Given the description of an element on the screen output the (x, y) to click on. 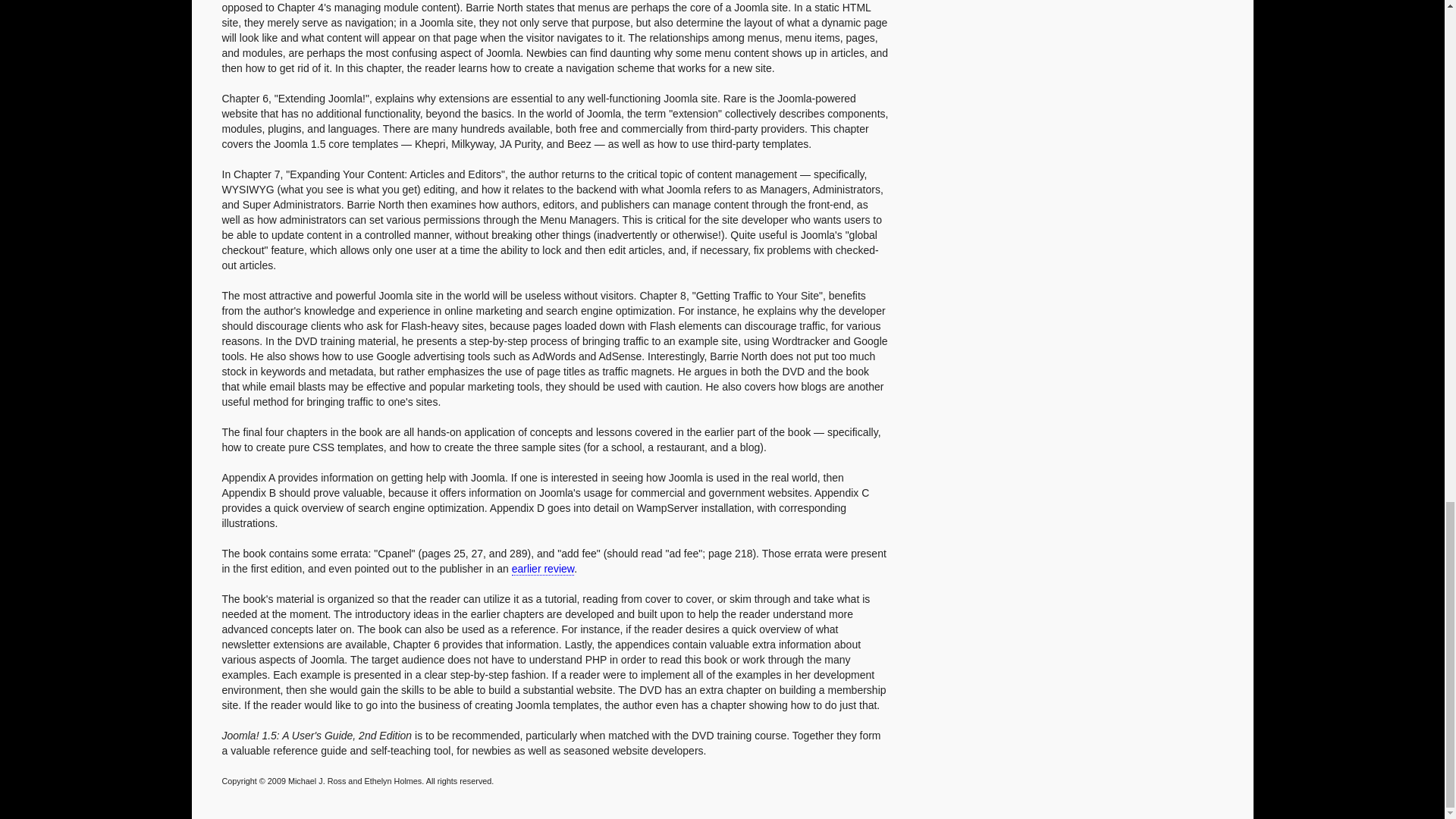
earlier review (542, 568)
